Given the description of an element on the screen output the (x, y) to click on. 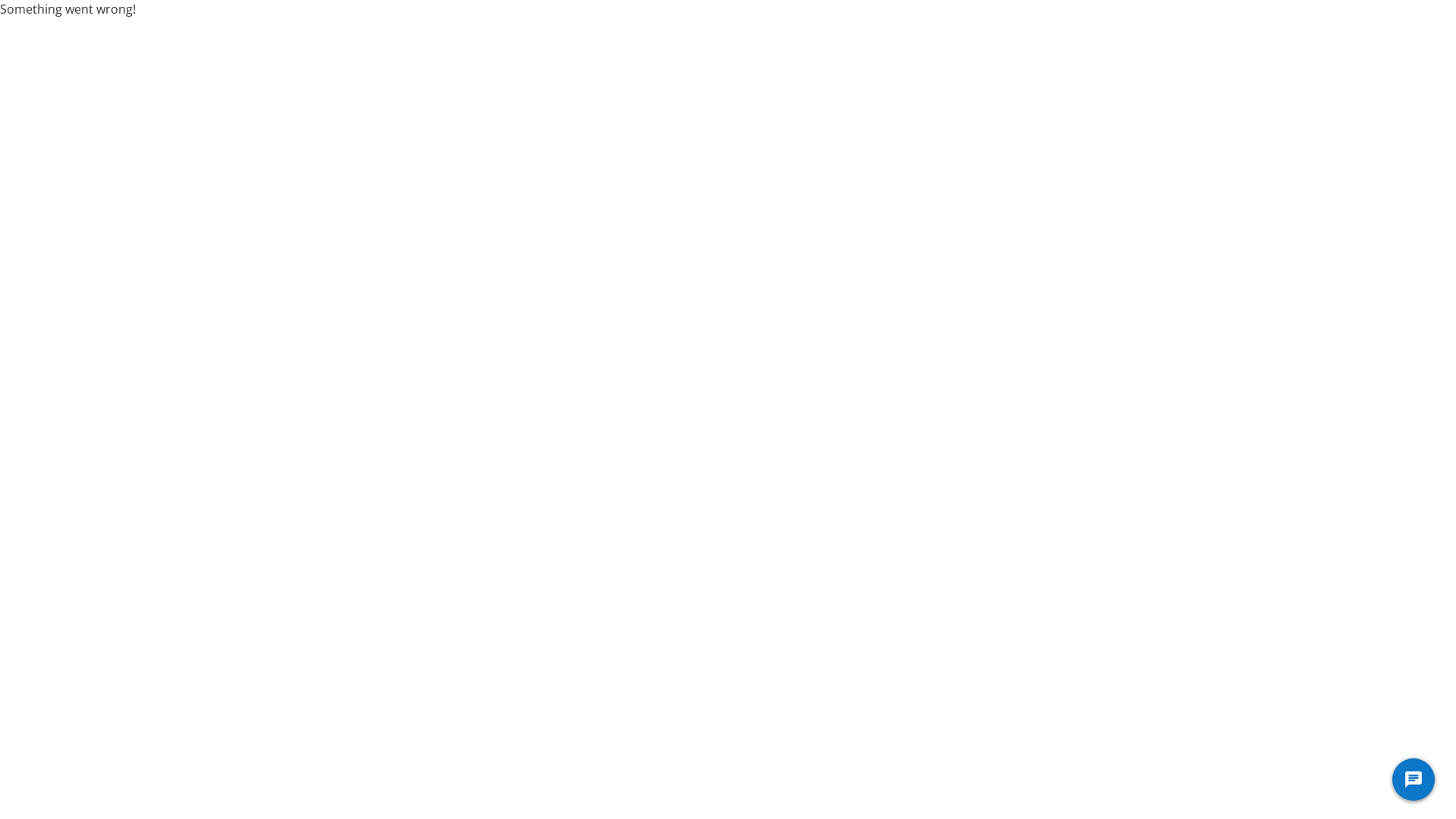
Genesys Messenger Launcher Element type: hover (1413, 782)
